Given the description of an element on the screen output the (x, y) to click on. 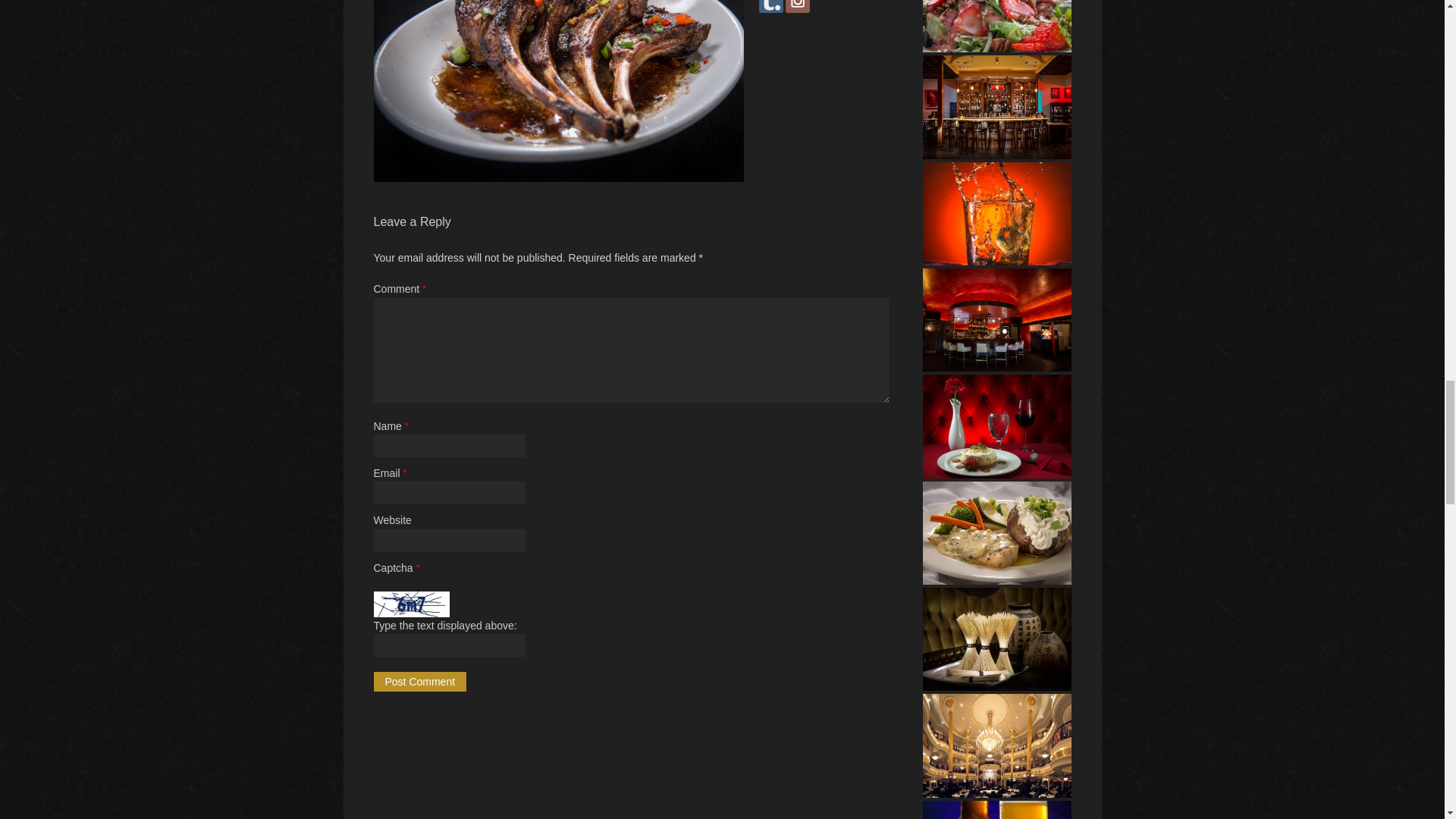
Post Comment (418, 681)
instagram (797, 6)
Find us on tumblr (770, 6)
Post Comment (418, 681)
